Given the description of an element on the screen output the (x, y) to click on. 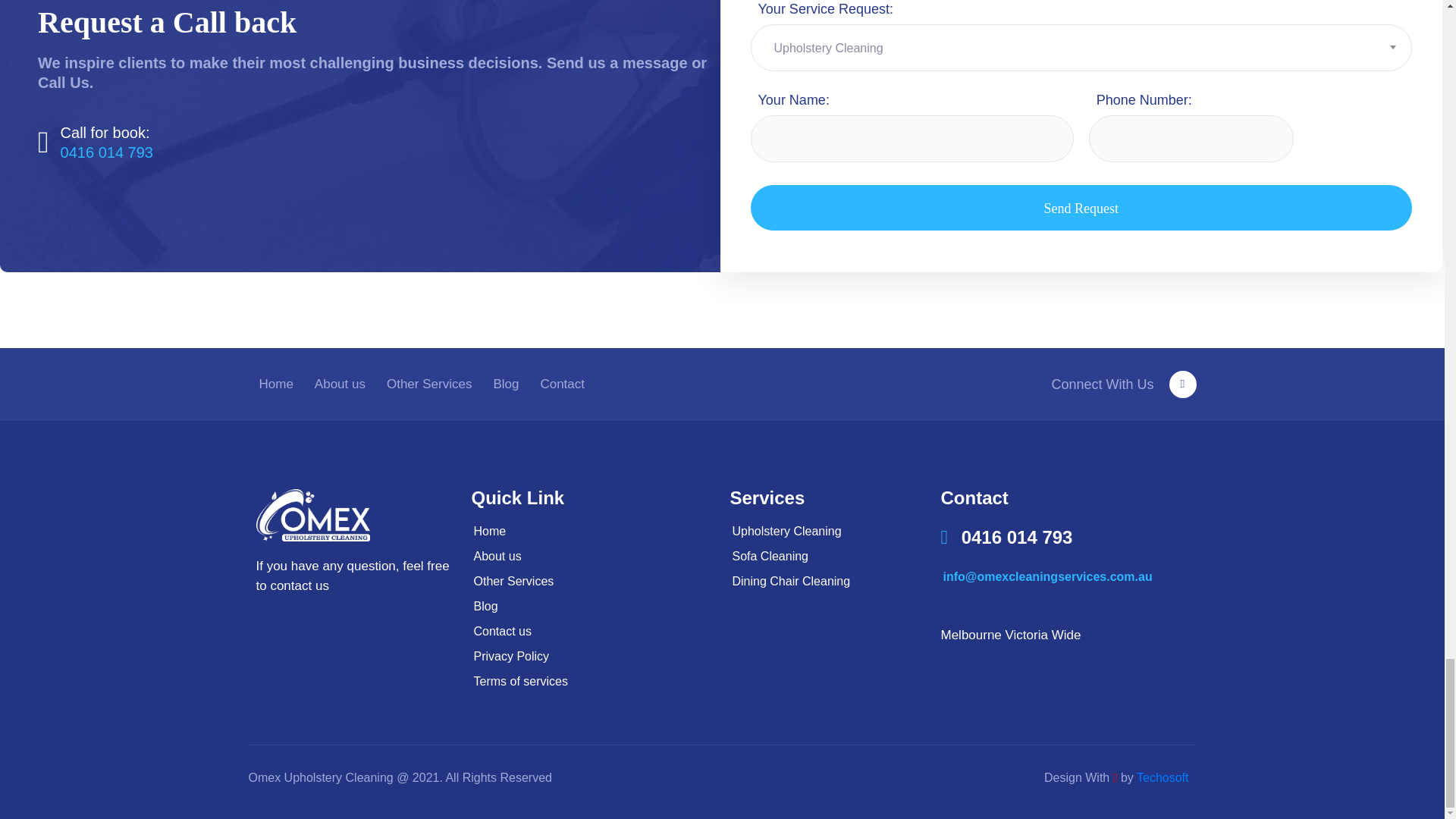
Send Request (1081, 207)
Blog (505, 384)
Send Request (1081, 207)
Home (592, 530)
About us (339, 384)
0416 014 793 (106, 152)
Contact (562, 384)
Other Services (428, 384)
Home (276, 384)
